Given the description of an element on the screen output the (x, y) to click on. 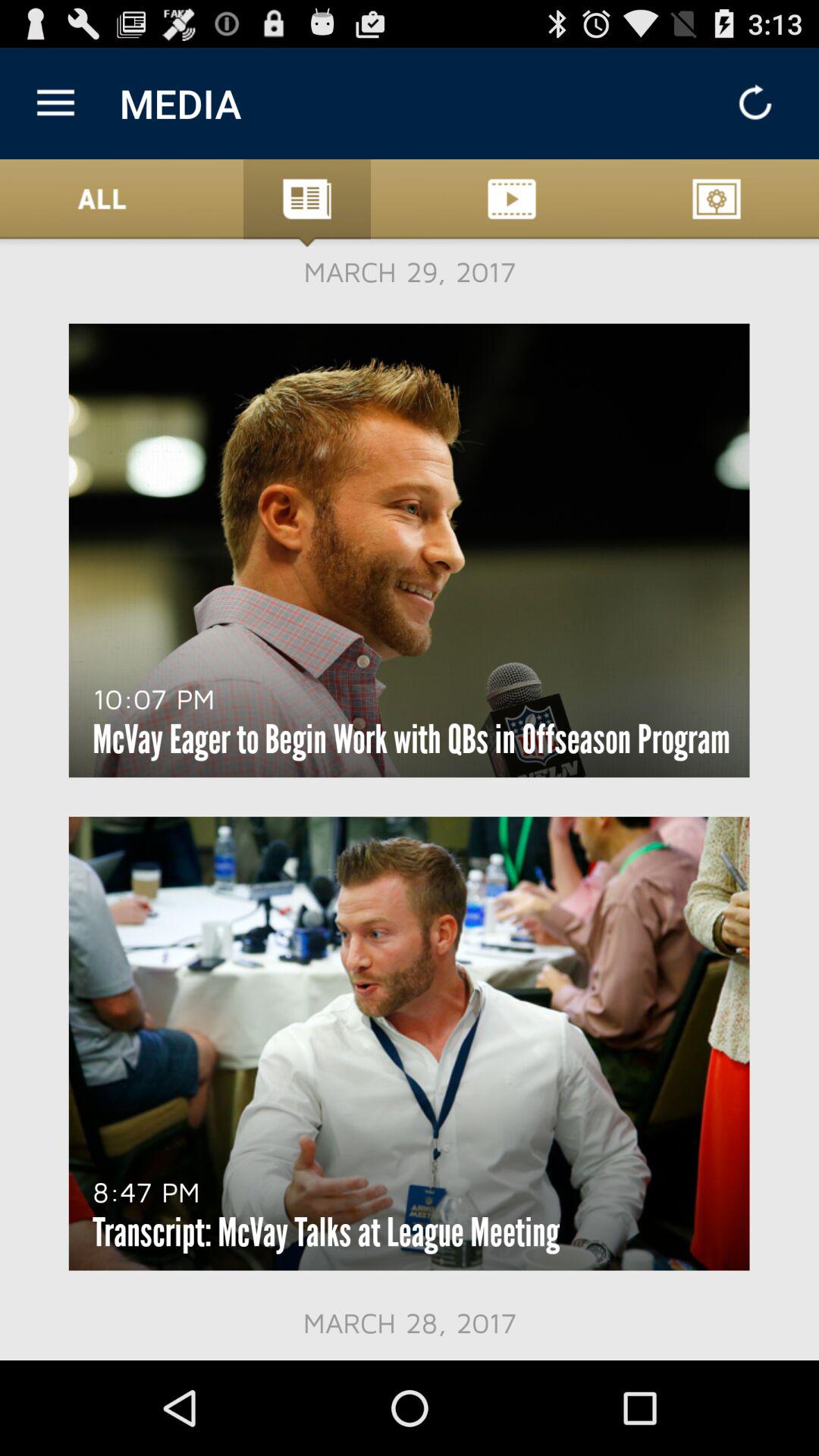
turn off the icon below march 29, 2017 item (153, 698)
